Given the description of an element on the screen output the (x, y) to click on. 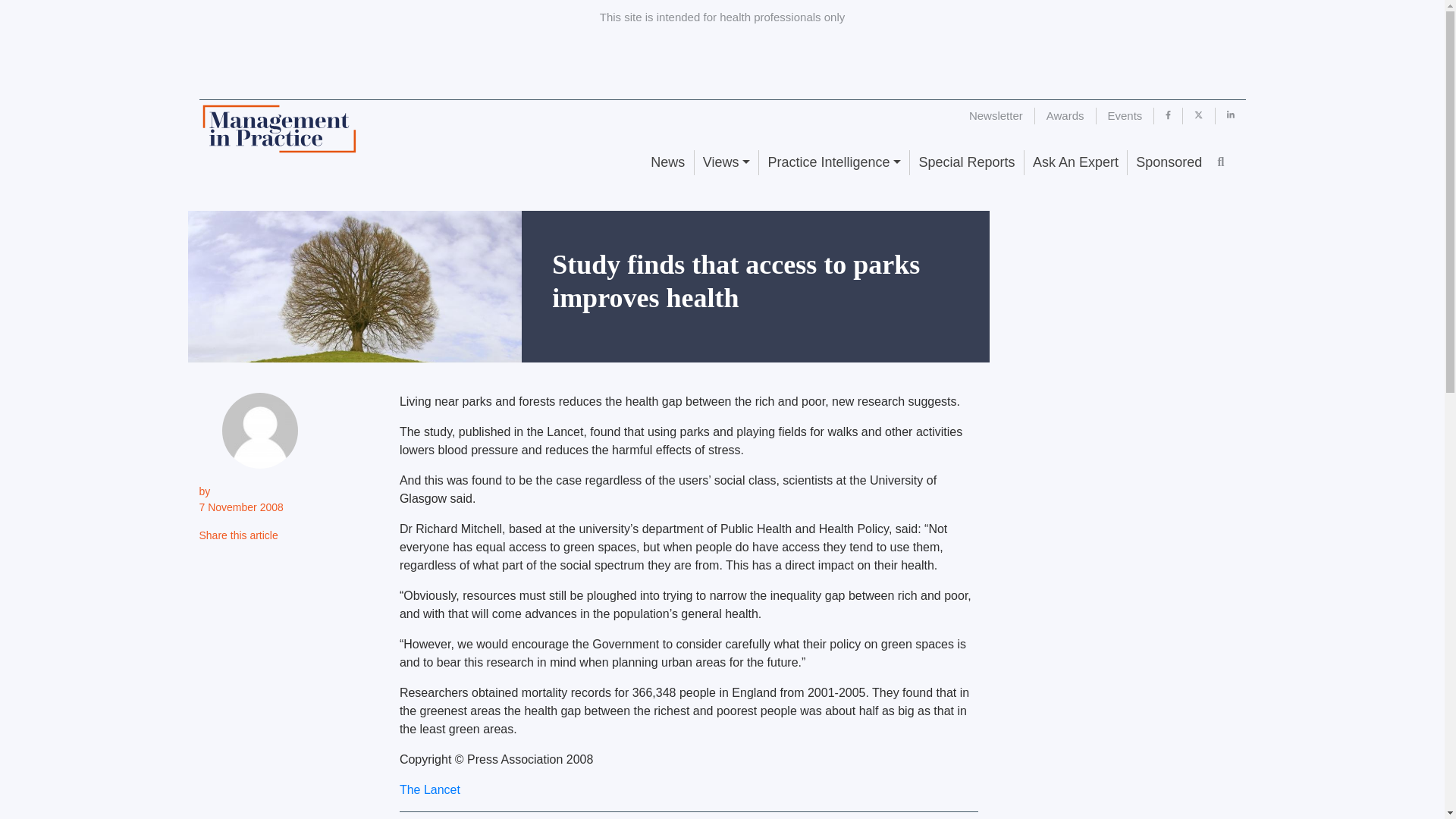
Special Reports (966, 162)
Events (1125, 115)
Ask An Expert (1075, 162)
News (667, 162)
Sponsored (1167, 162)
Practice Intelligence (833, 162)
Awards (1065, 115)
Newsletter (996, 115)
Views (726, 162)
